Given the description of an element on the screen output the (x, y) to click on. 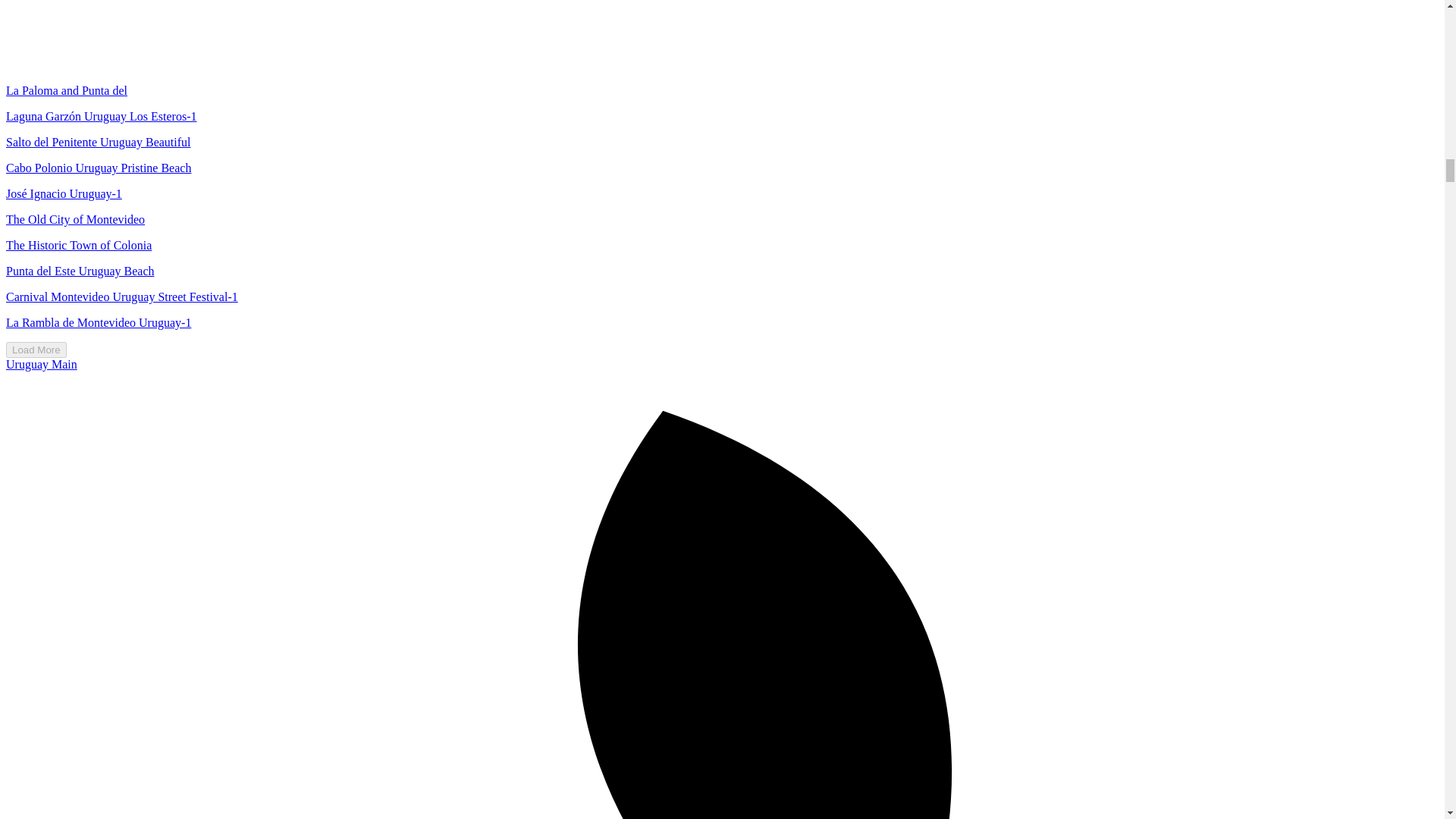
Load More (35, 349)
La Paloma and Punta del Diablo Uruguay Beach Towns-1 (66, 90)
Salto del Penitente Uruguay Beautiful Waterfall-1 (97, 141)
The Old City of Montevideo (74, 219)
La Rambla de Montevideo Uruguay-1 (97, 322)
Cabo Polonio Uruguay Pristine Beach Fishing Village-1 (97, 167)
The Old City of Montevideo Uruguay-1 (74, 219)
Carnival Montevideo Uruguay Street Festival-1 (121, 296)
The Historic Town of Colonia del Sacramento Uruguay-1 (78, 245)
Punta del Este Uruguay Beach Lagoon and Island-1 (79, 270)
